Given the description of an element on the screen output the (x, y) to click on. 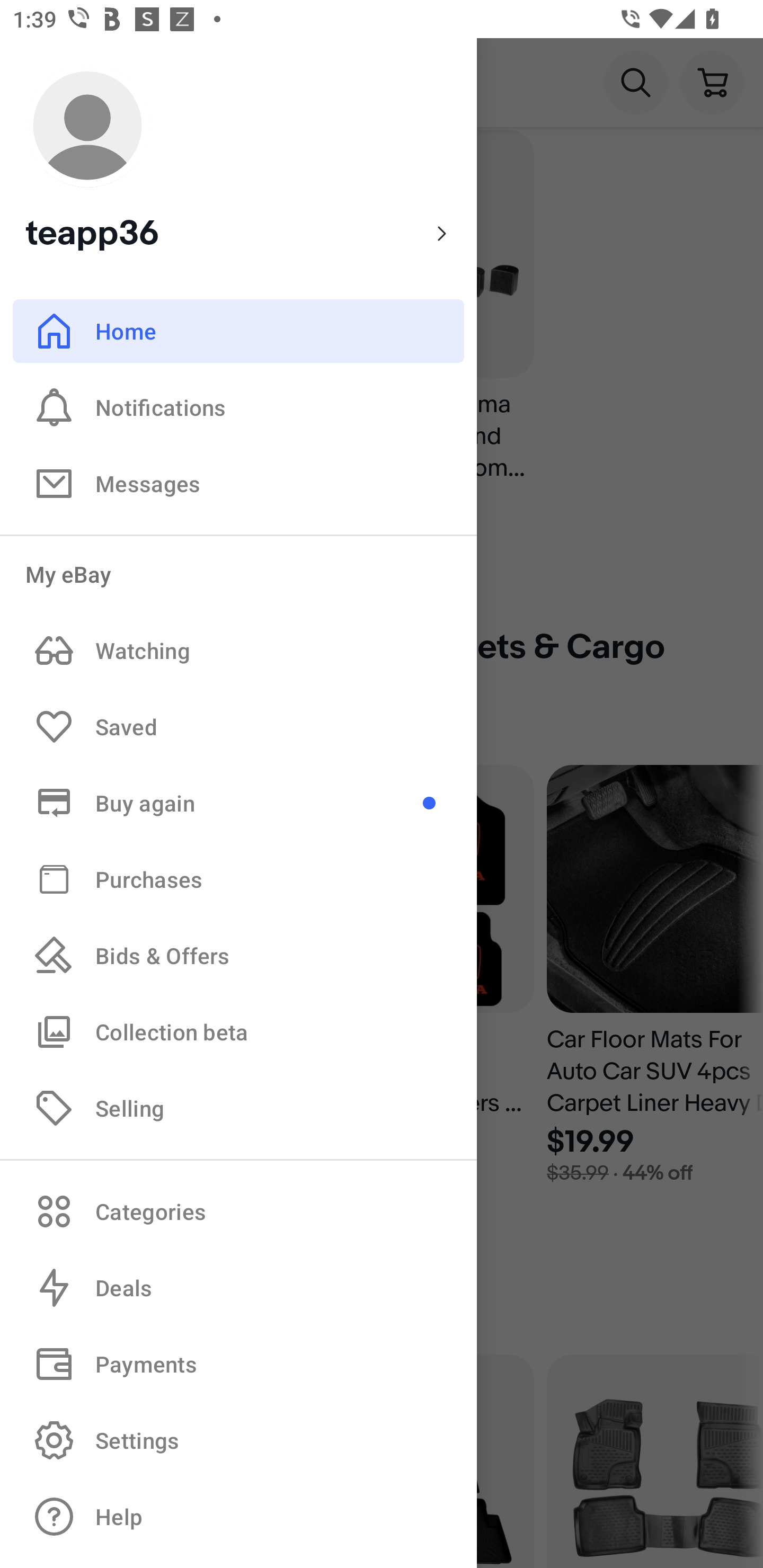
teapp36 (238, 158)
Home (238, 330)
Notifications (238, 406)
Messages (238, 483)
Watching (238, 650)
Saved (238, 726)
Buy again Is new feature (238, 802)
Purchases (238, 878)
Bids & Offers (238, 955)
Collection beta (238, 1031)
Selling (238, 1107)
Categories (238, 1210)
Deals (238, 1287)
Payments (238, 1363)
Settings (238, 1439)
Help (238, 1516)
